Given the description of an element on the screen output the (x, y) to click on. 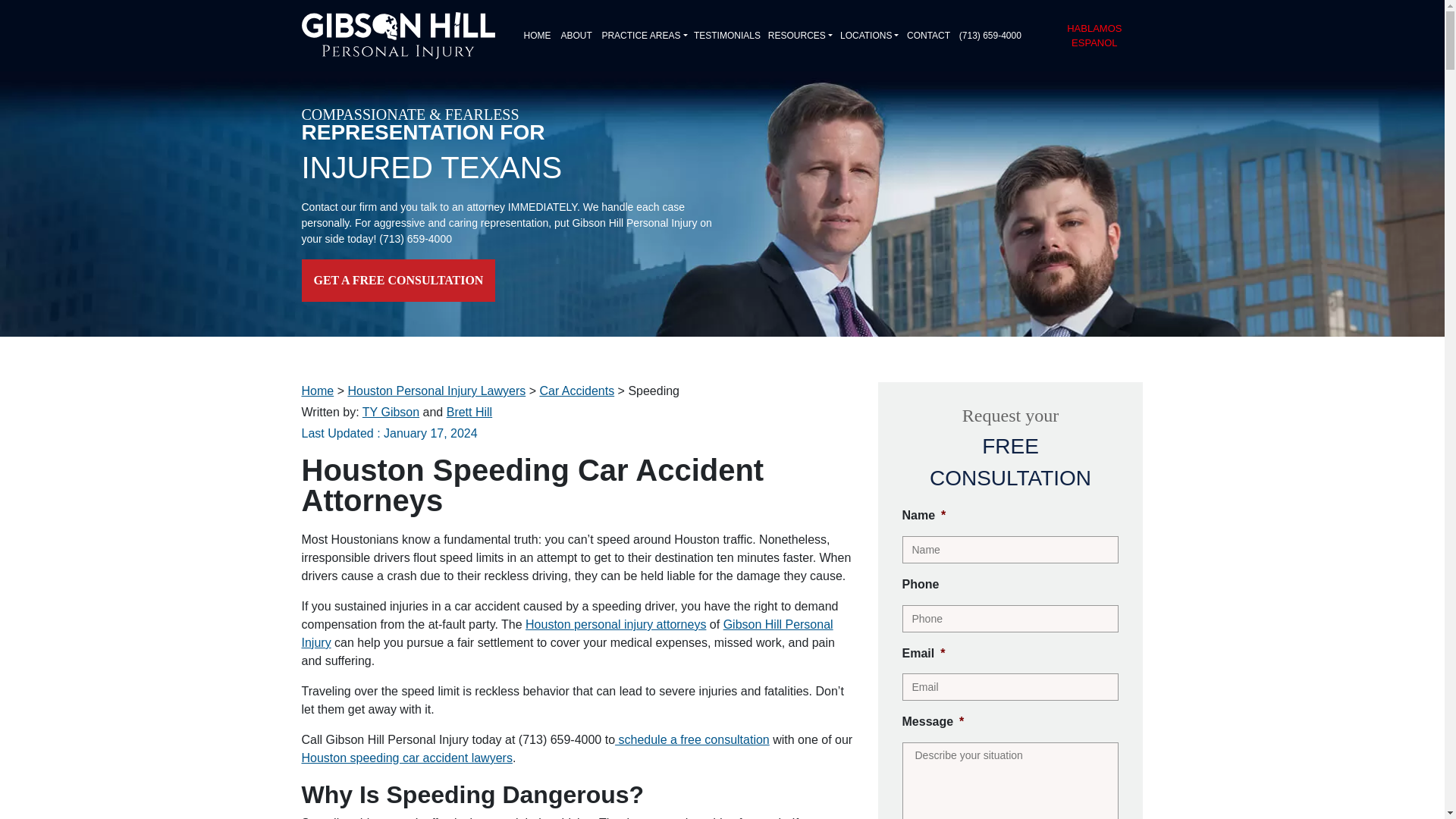
Brett Hill (469, 411)
HOME (535, 35)
LOCATIONS (867, 35)
ABOUT (574, 35)
GET A FREE CONSULTATION (398, 280)
TY Gibson (390, 411)
Gibson Hill Personal Injury (566, 633)
TESTIMONIALS (724, 35)
PRACTICE AREAS (641, 35)
Car Accidents (576, 390)
